Given the description of an element on the screen output the (x, y) to click on. 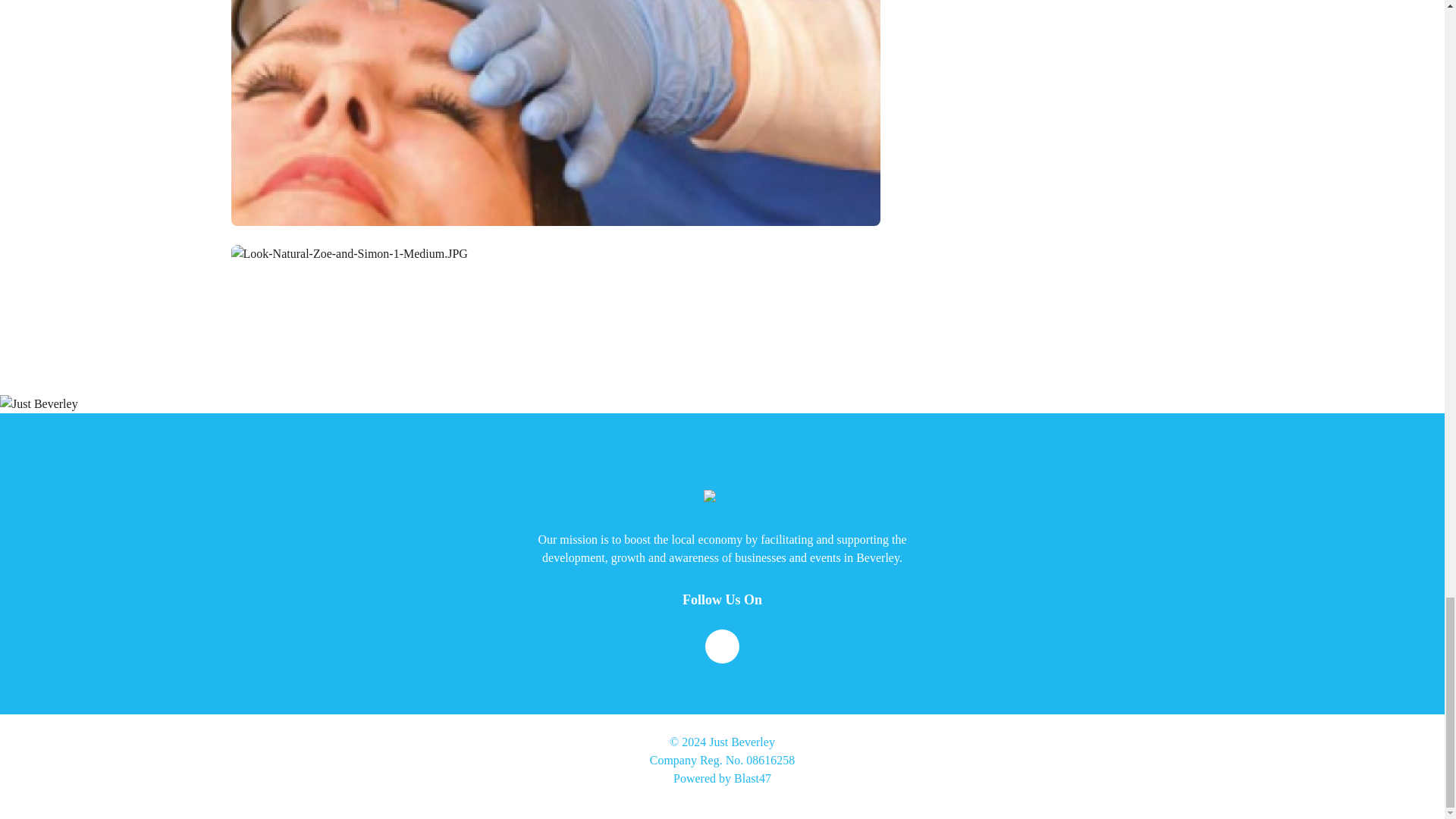
Blast47 (752, 778)
See us on facebook (721, 646)
